Given the description of an element on the screen output the (x, y) to click on. 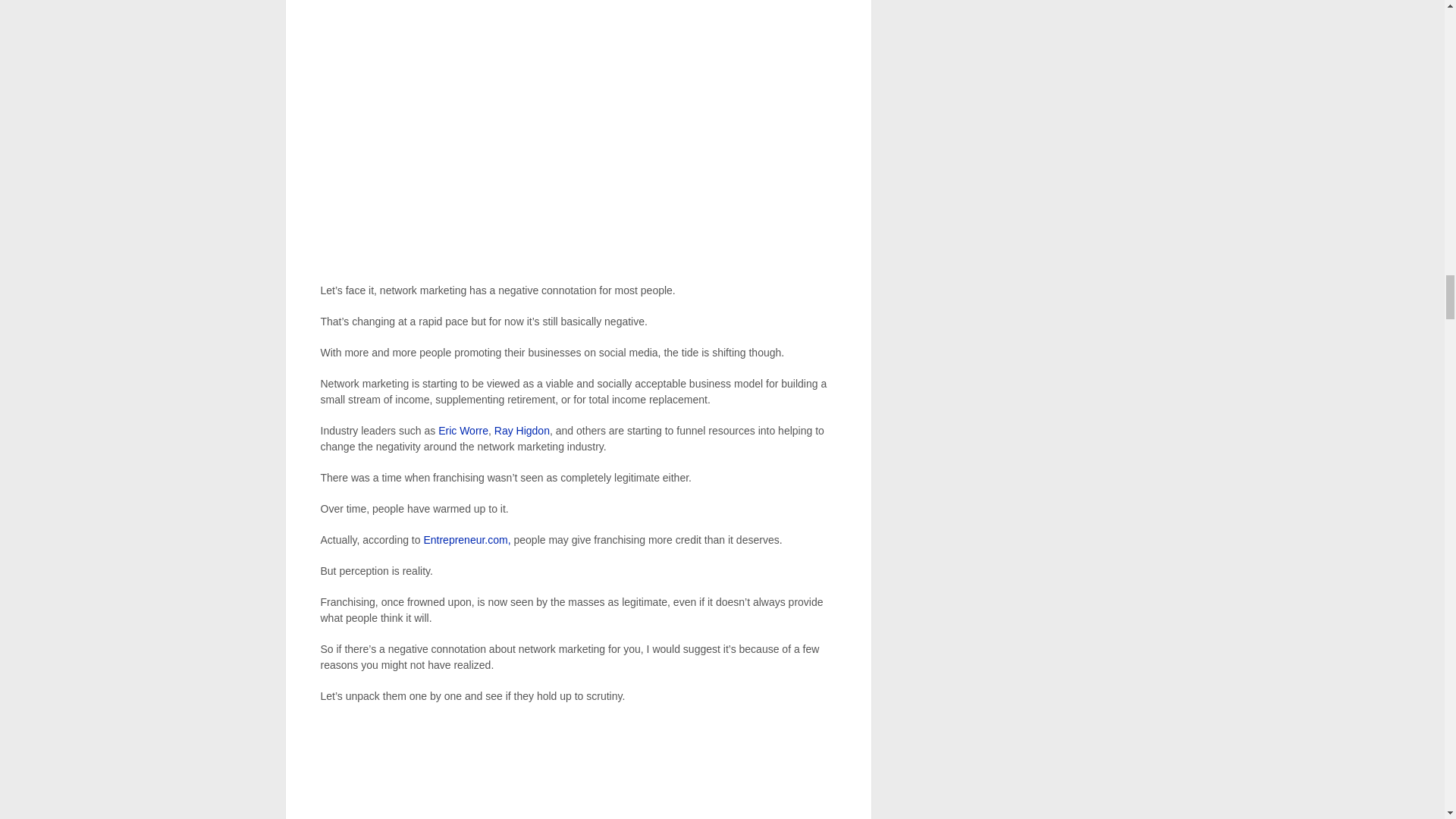
Ray Higdon (522, 430)
Eric Worre (462, 430)
Entrepreneur.com, (467, 539)
